Given the description of an element on the screen output the (x, y) to click on. 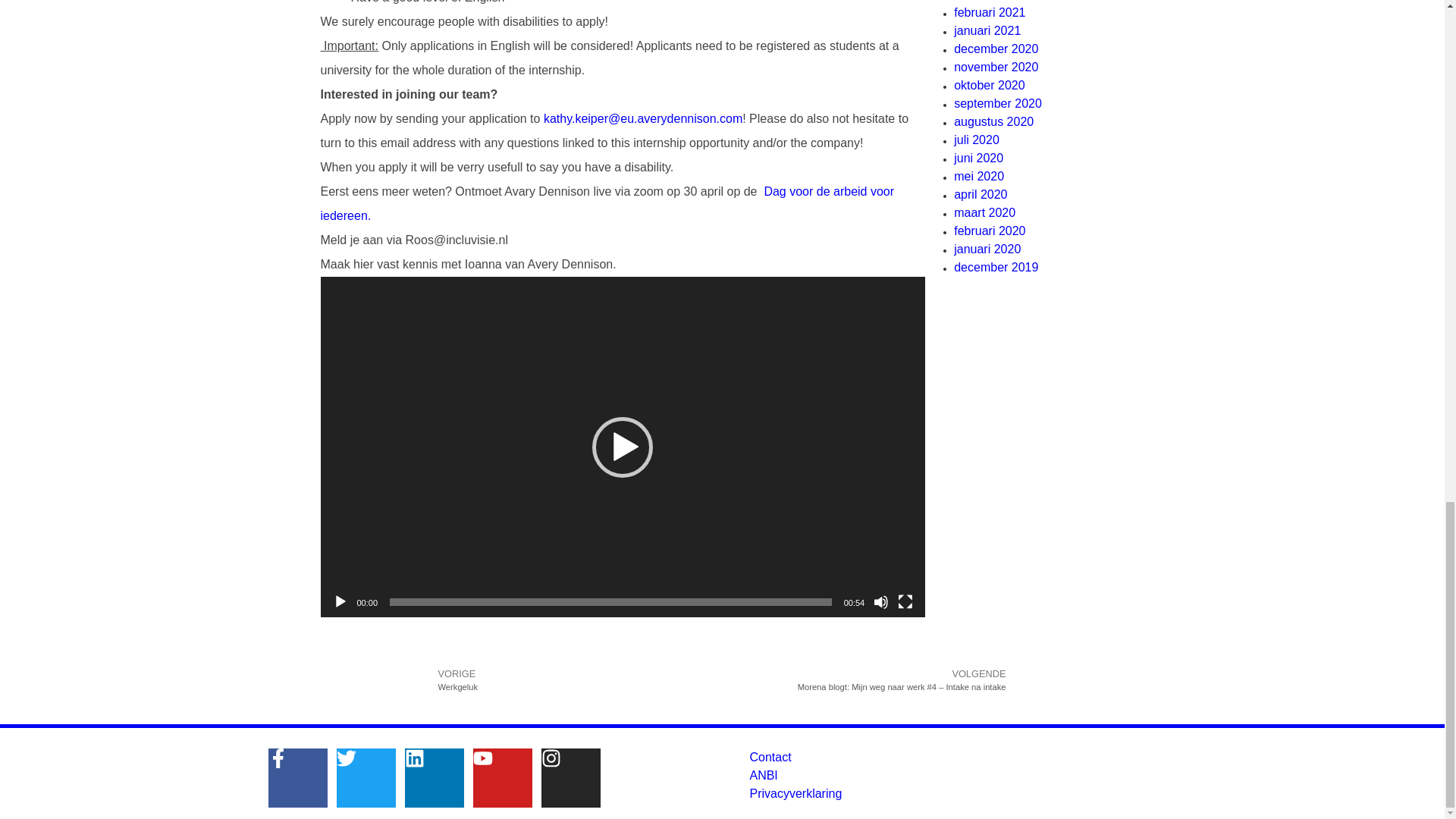
Volledig scherm (905, 601)
Dempen (880, 601)
Afspelen (339, 601)
Dag voor de arbeid voor iedereen. (606, 203)
